Given the description of an element on the screen output the (x, y) to click on. 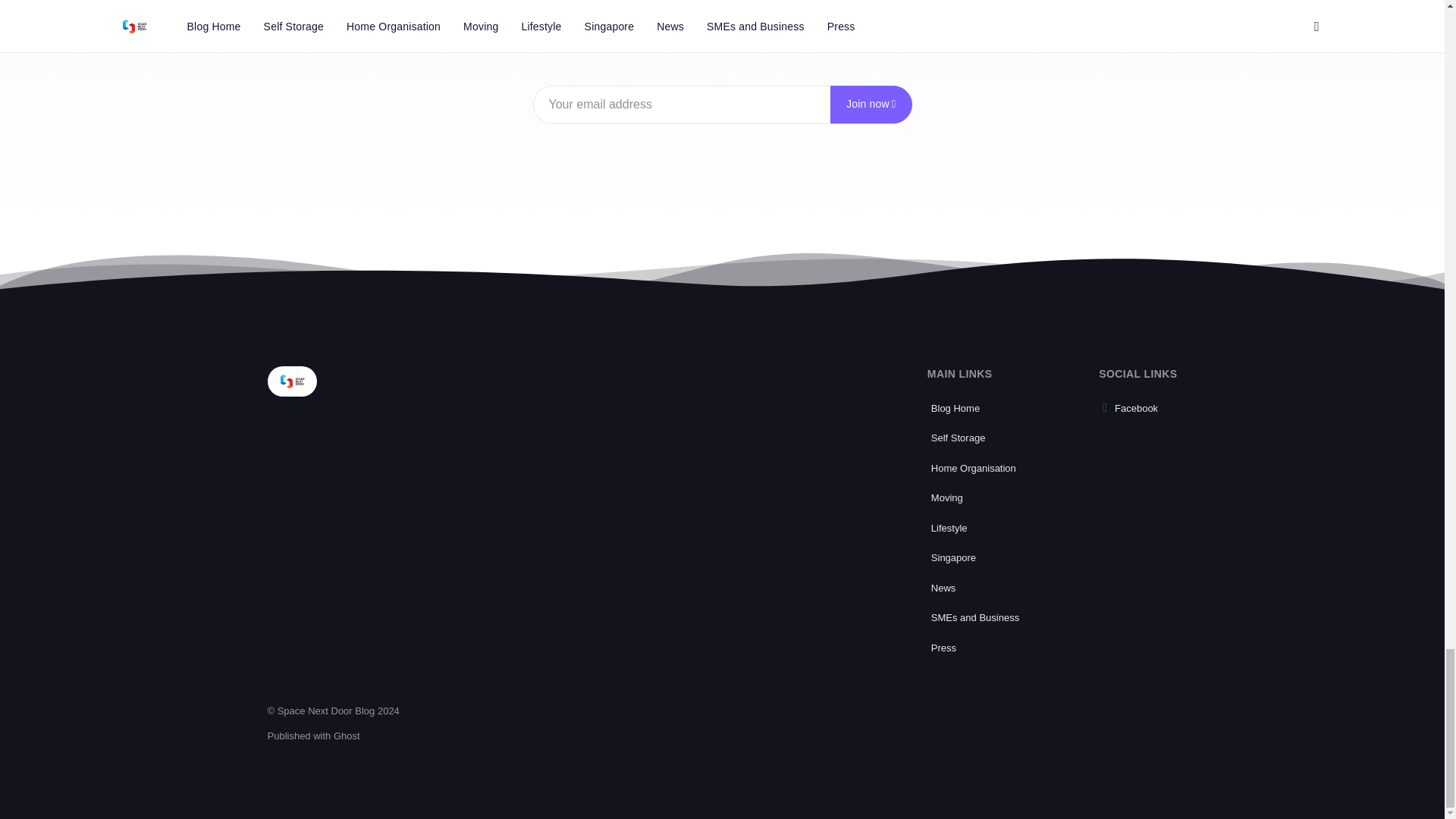
Space Next Door Blog (291, 381)
